Given the description of an element on the screen output the (x, y) to click on. 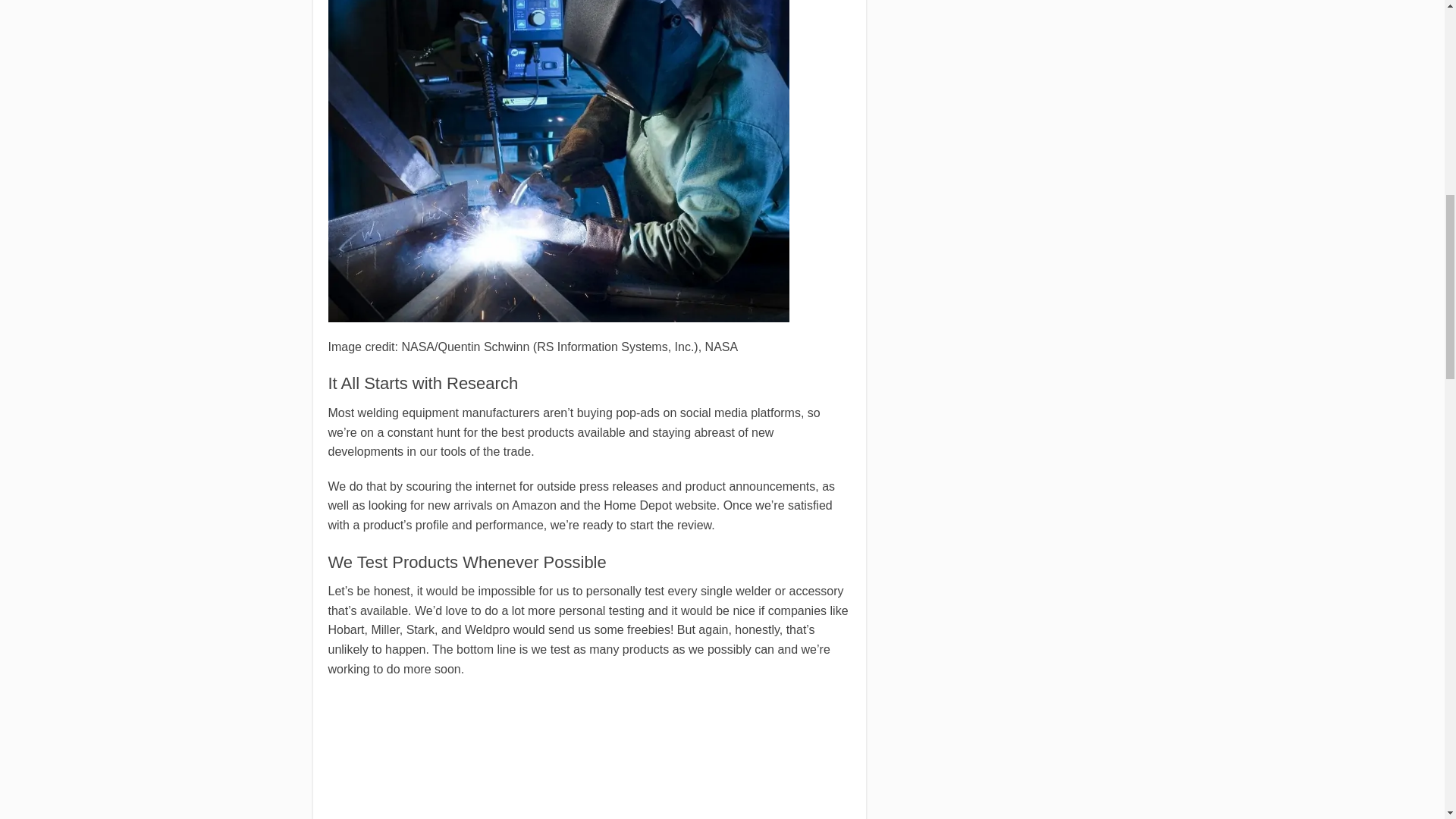
Certified Welding Supervisor (558, 756)
